Given the description of an element on the screen output the (x, y) to click on. 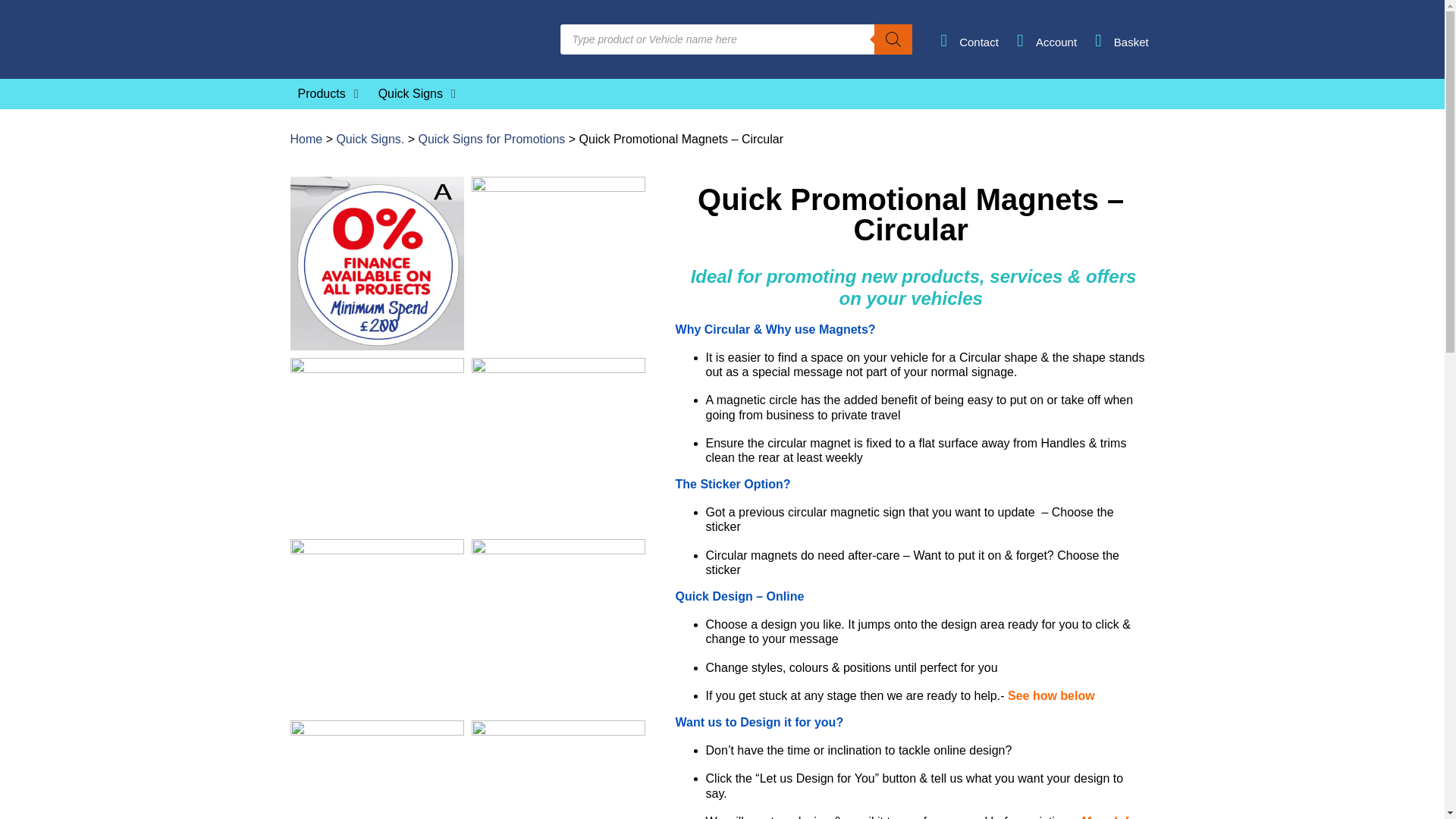
SND--C (376, 444)
SND--E (558, 444)
SND--A (376, 263)
SND--K (558, 769)
SND--H (558, 625)
Products (321, 94)
SND--G (376, 625)
Contact (978, 42)
Account (1056, 42)
Basket (1130, 42)
SND--B (558, 263)
SND--J (376, 769)
